Given the description of an element on the screen output the (x, y) to click on. 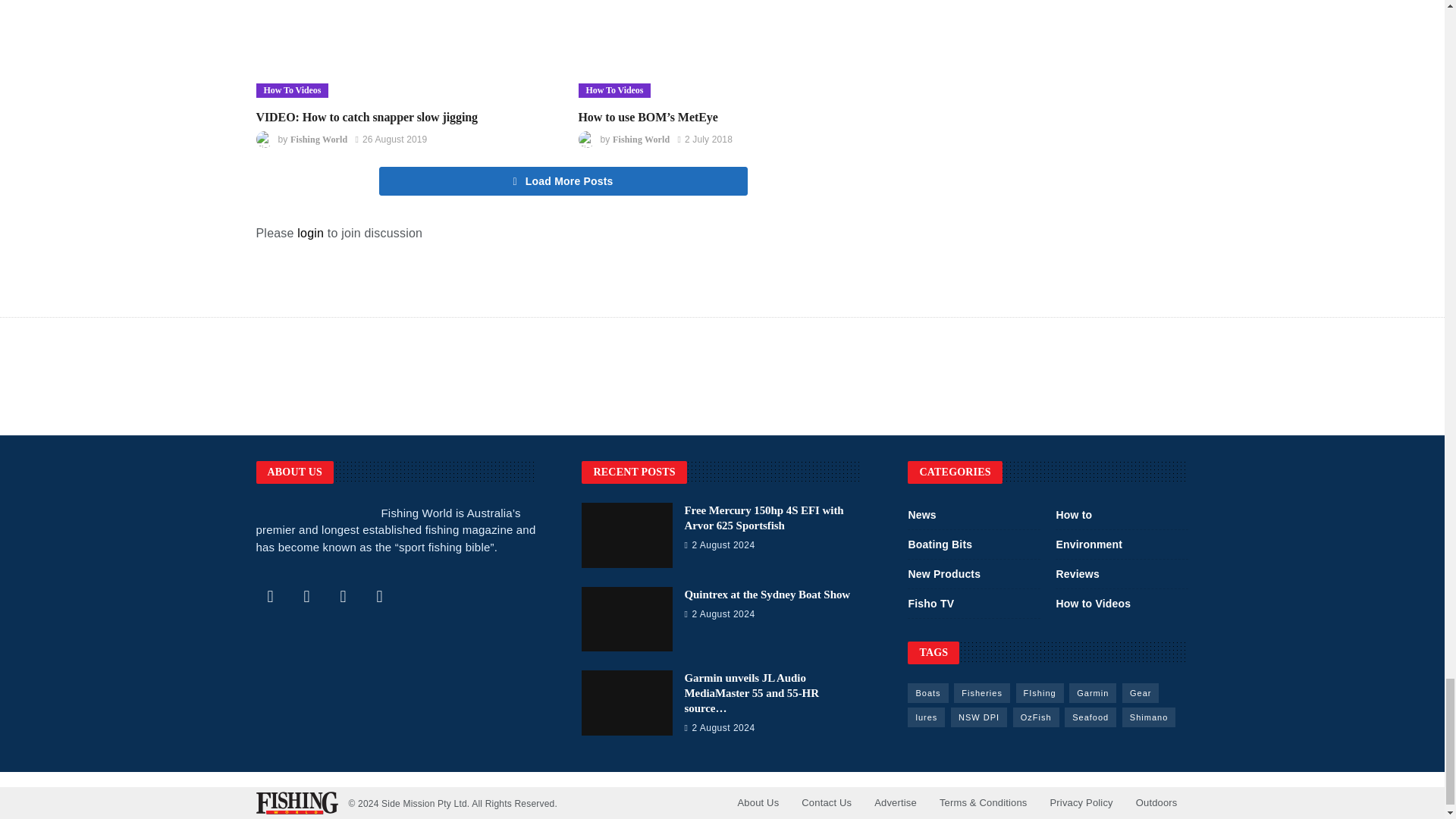
Quintrex at the Sydney Boat Show (626, 619)
Free Mercury 150hp 4S EFI with Arvor 625 Sportsfish (763, 517)
Load More Posts (563, 181)
Free Mercury 150hp 4S EFI with Arvor 625 Sportsfish (626, 535)
VIDEO: How to catch snapper slow jigging (402, 48)
VIDEO: How to catch snapper slow jigging (367, 116)
